Given the description of an element on the screen output the (x, y) to click on. 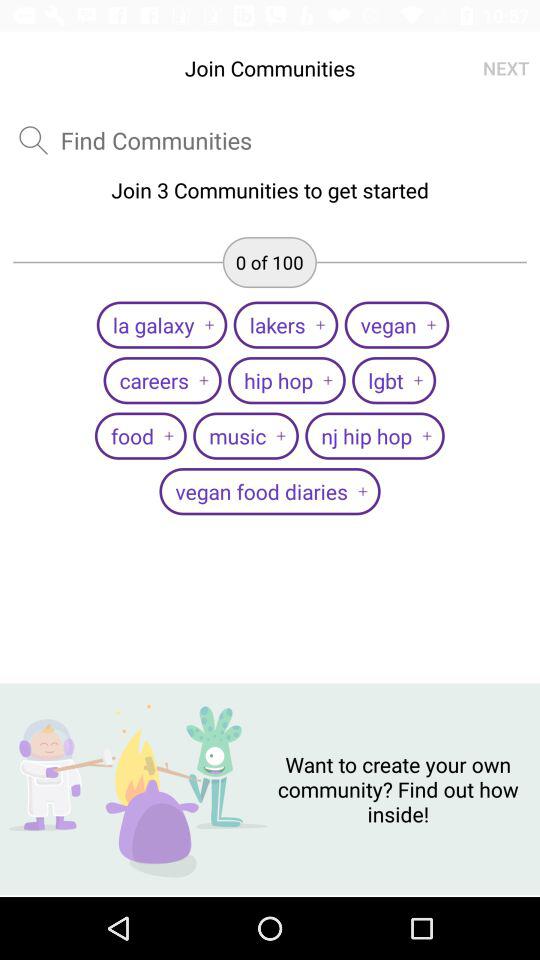
search to find text (33, 140)
